Given the description of an element on the screen output the (x, y) to click on. 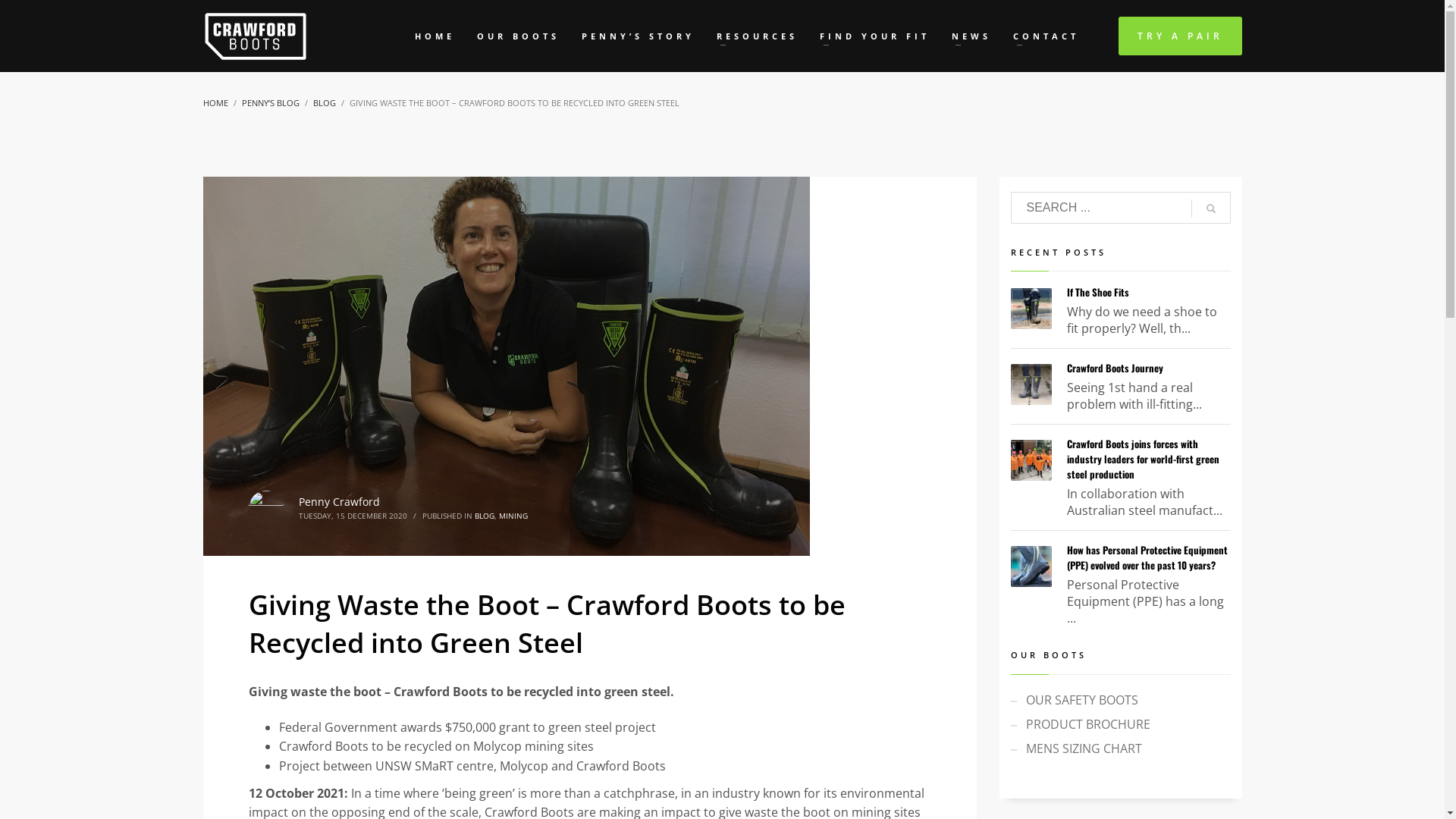
OUR BOOTS Element type: text (517, 35)
Waterproof Safety Boots That Fit Element type: hover (255, 35)
CONTACT Element type: text (1046, 35)
BLOG Element type: text (323, 102)
RESOURCES Element type: text (756, 35)
OUR SAFETY BOOTS Element type: text (1120, 699)
HOME Element type: text (433, 35)
TRY A PAIR Element type: text (1179, 35)
Penny Crawford Element type: text (338, 501)
PRODUCT BROCHURE Element type: text (1120, 724)
MENS SIZING CHART Element type: text (1120, 748)
Penny Crawford Designer Safety Boots Element type: hover (506, 365)
NEWS Element type: text (970, 35)
go Element type: text (1210, 208)
If The Shoe Fits Element type: text (1097, 291)
FIND YOUR FIT Element type: text (873, 35)
BLOG Element type: text (484, 515)
HOME Element type: text (215, 102)
MINING Element type: text (512, 515)
Crawford Boots Journey Element type: text (1114, 367)
